Given the description of an element on the screen output the (x, y) to click on. 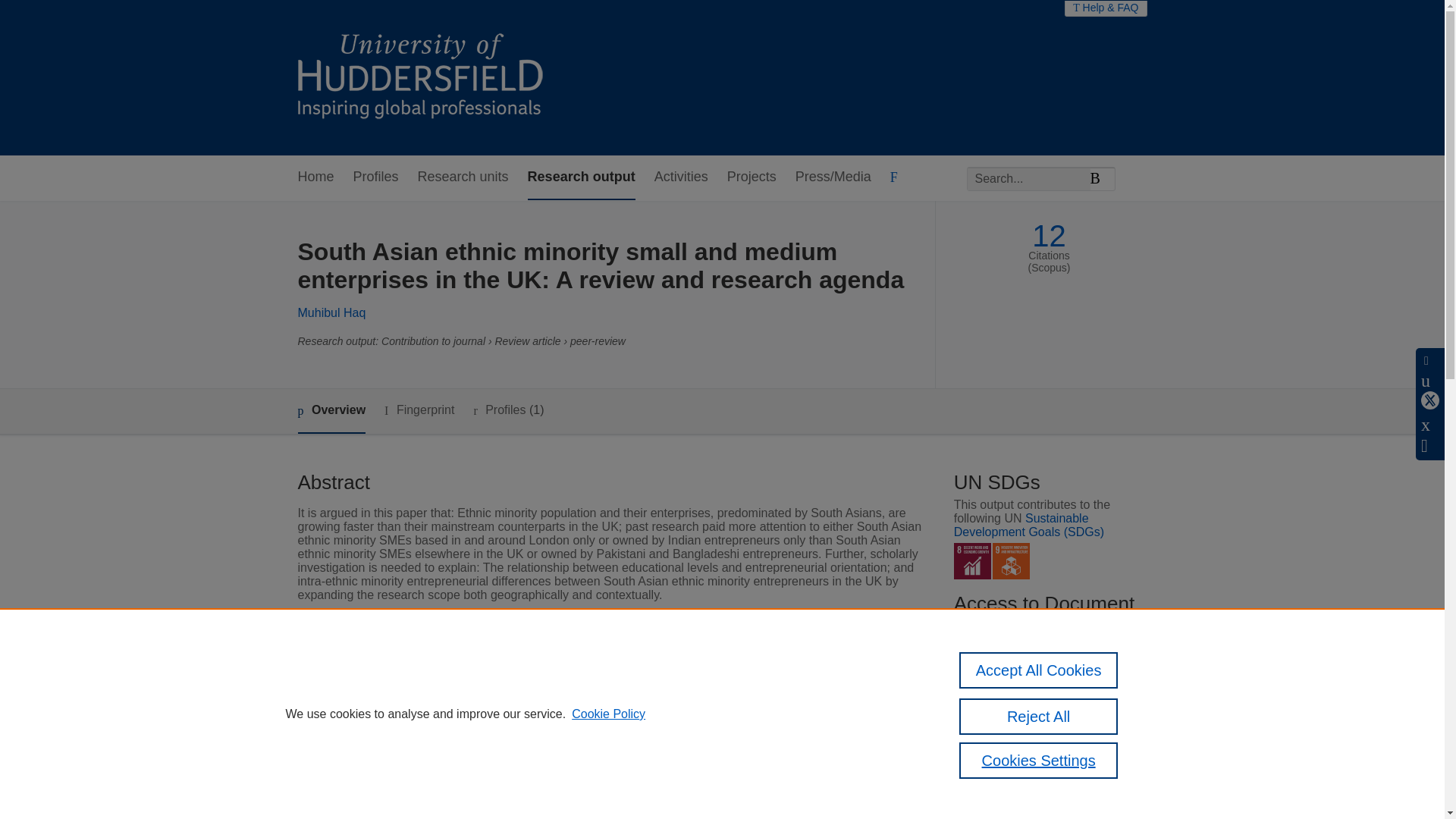
SDG 9 - Industry, Innovation, and Infrastructure (1010, 560)
Overview (331, 411)
University of Huddersfield Research Portal Home (431, 77)
Muhibul Haq (331, 312)
Profiles (375, 177)
International Journal of Entrepreneurship and Small Business (668, 685)
12 (1048, 235)
Research units (462, 177)
Fingerprint (419, 410)
